Given the description of an element on the screen output the (x, y) to click on. 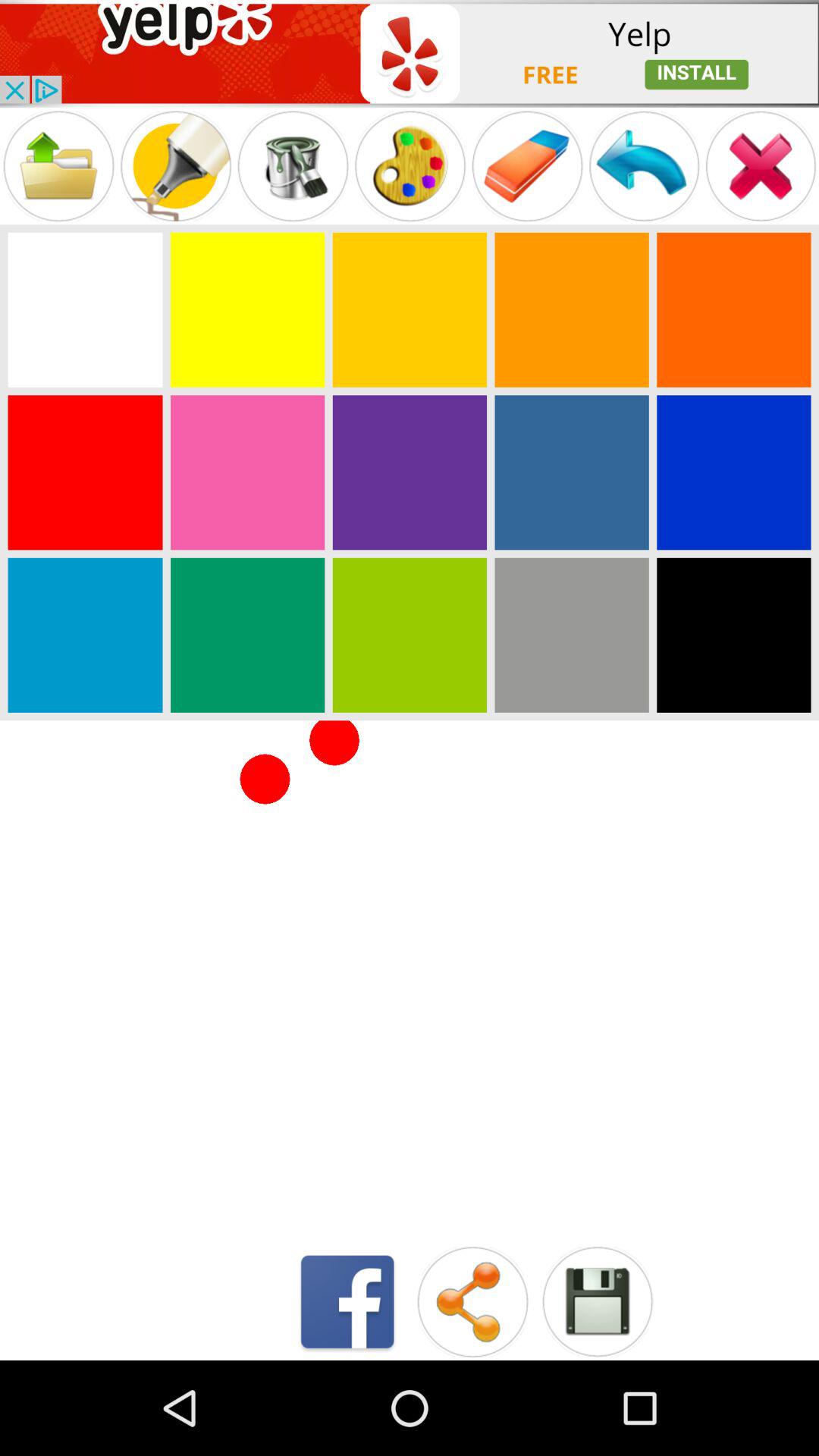
advertisement for yelp (409, 53)
